Given the description of an element on the screen output the (x, y) to click on. 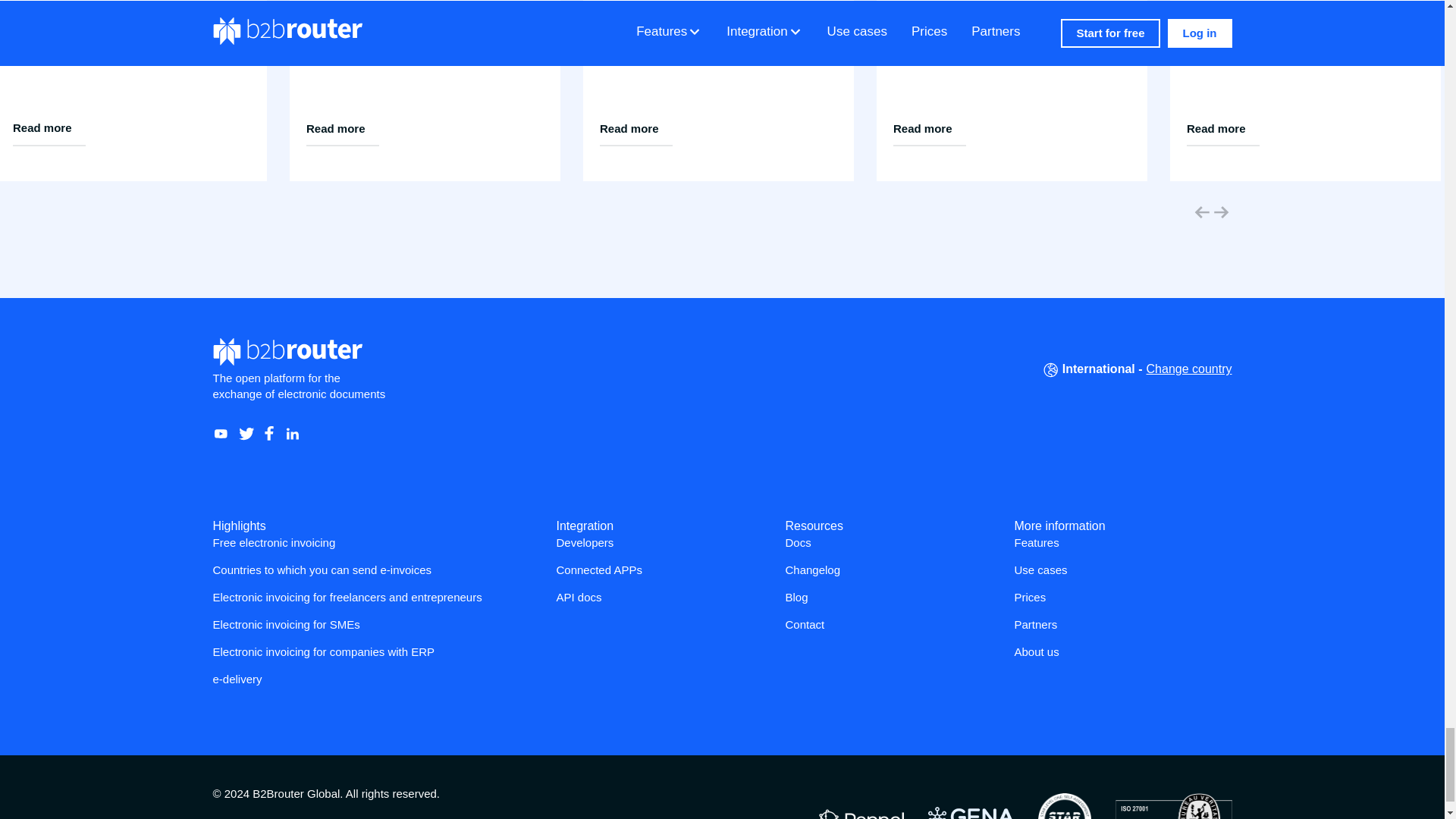
Read more (636, 128)
Read more (49, 128)
Read more (342, 128)
